Given the description of an element on the screen output the (x, y) to click on. 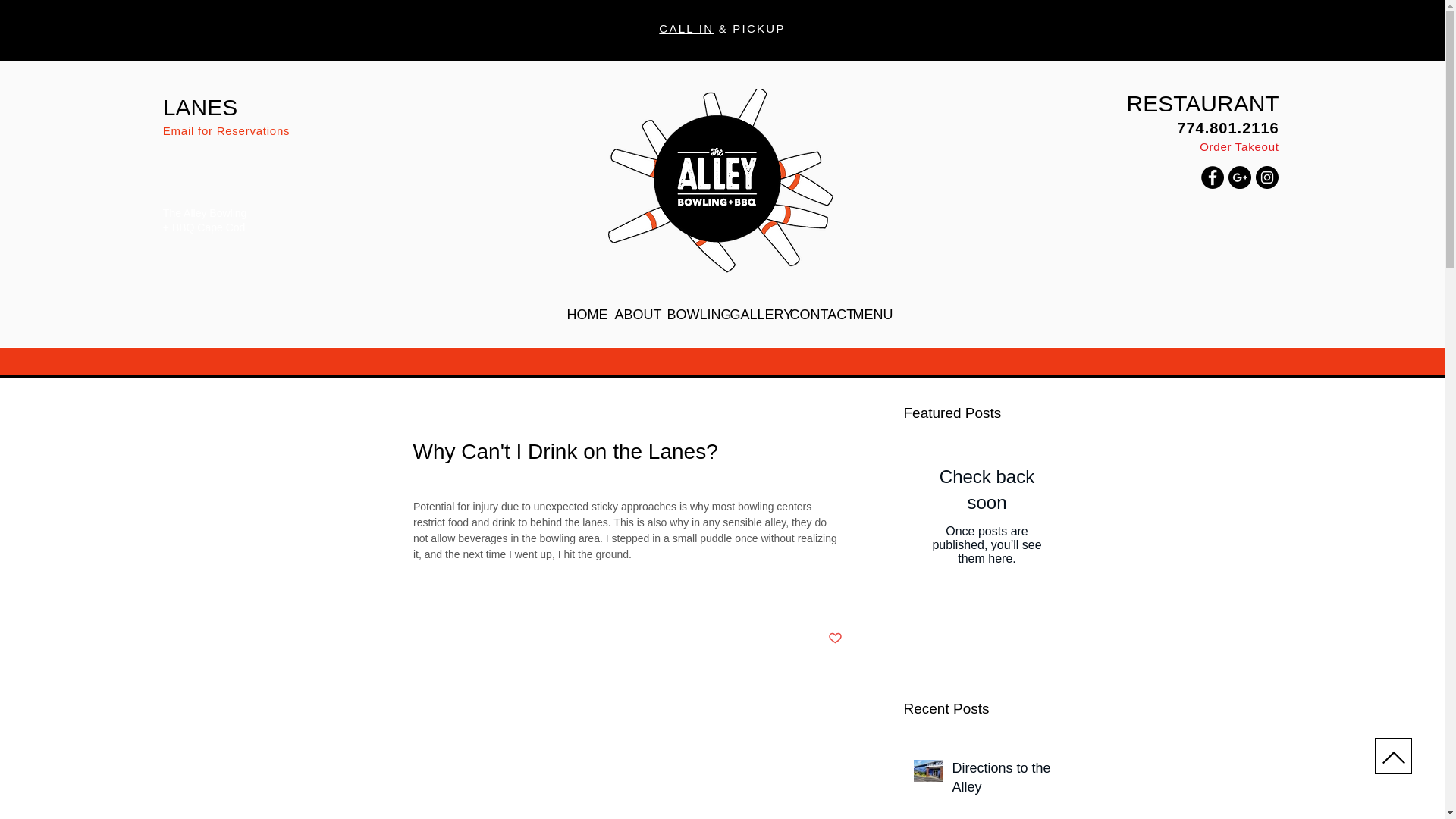
Order Takeout (1239, 146)
MENU (865, 314)
Directions to the Alley (1006, 781)
CONTACT (809, 314)
ABOUT (630, 314)
GALLERY (748, 314)
774.801.2116 (1227, 127)
HOME (578, 314)
BOWLING (686, 314)
LANES (200, 107)
